Given the description of an element on the screen output the (x, y) to click on. 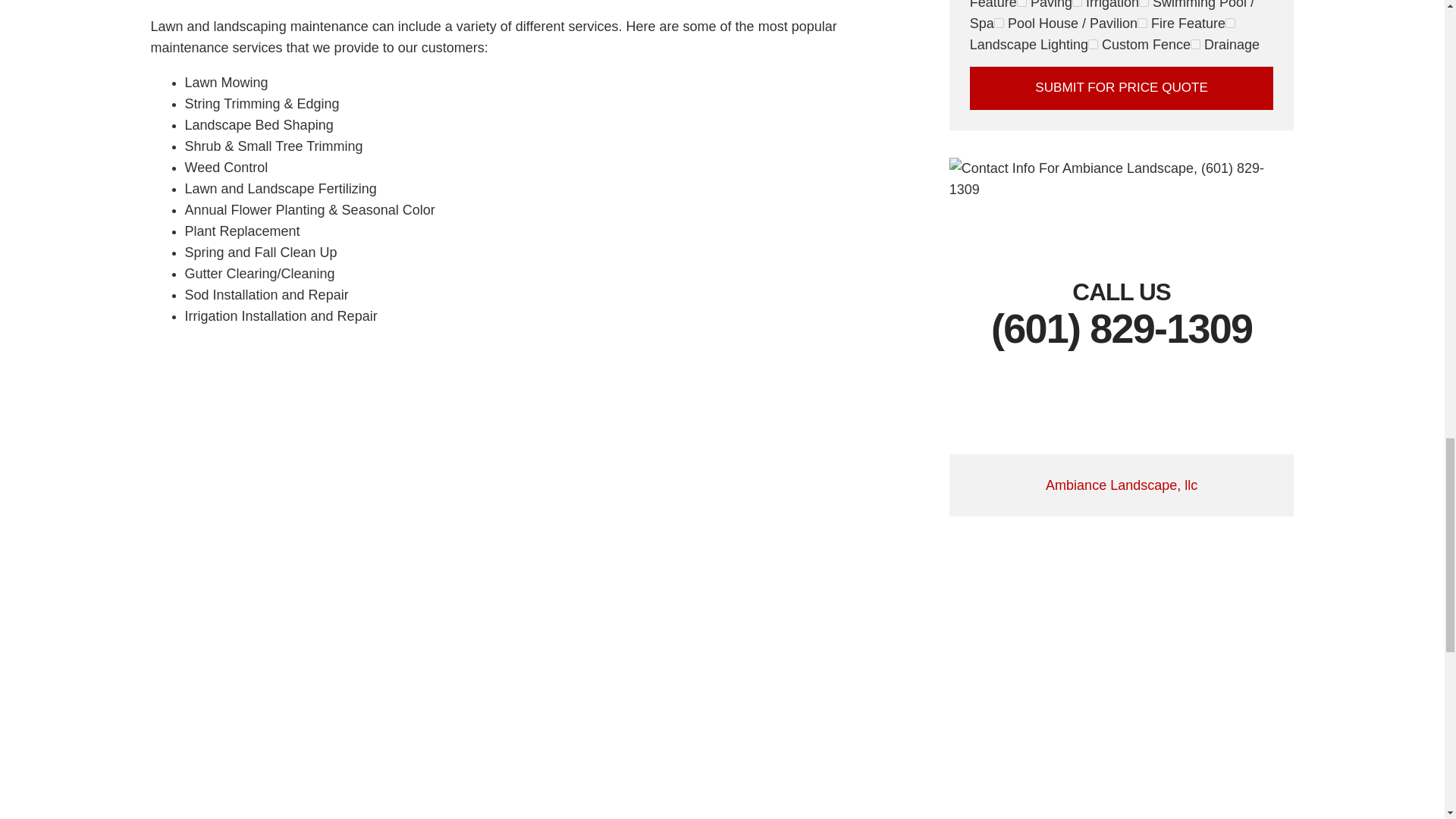
Ambiance Landscape, llc (1120, 485)
Paving (1021, 3)
Landscape Lighting (1229, 22)
Fire Feature (1142, 22)
Irrigation (1076, 3)
